Given the description of an element on the screen output the (x, y) to click on. 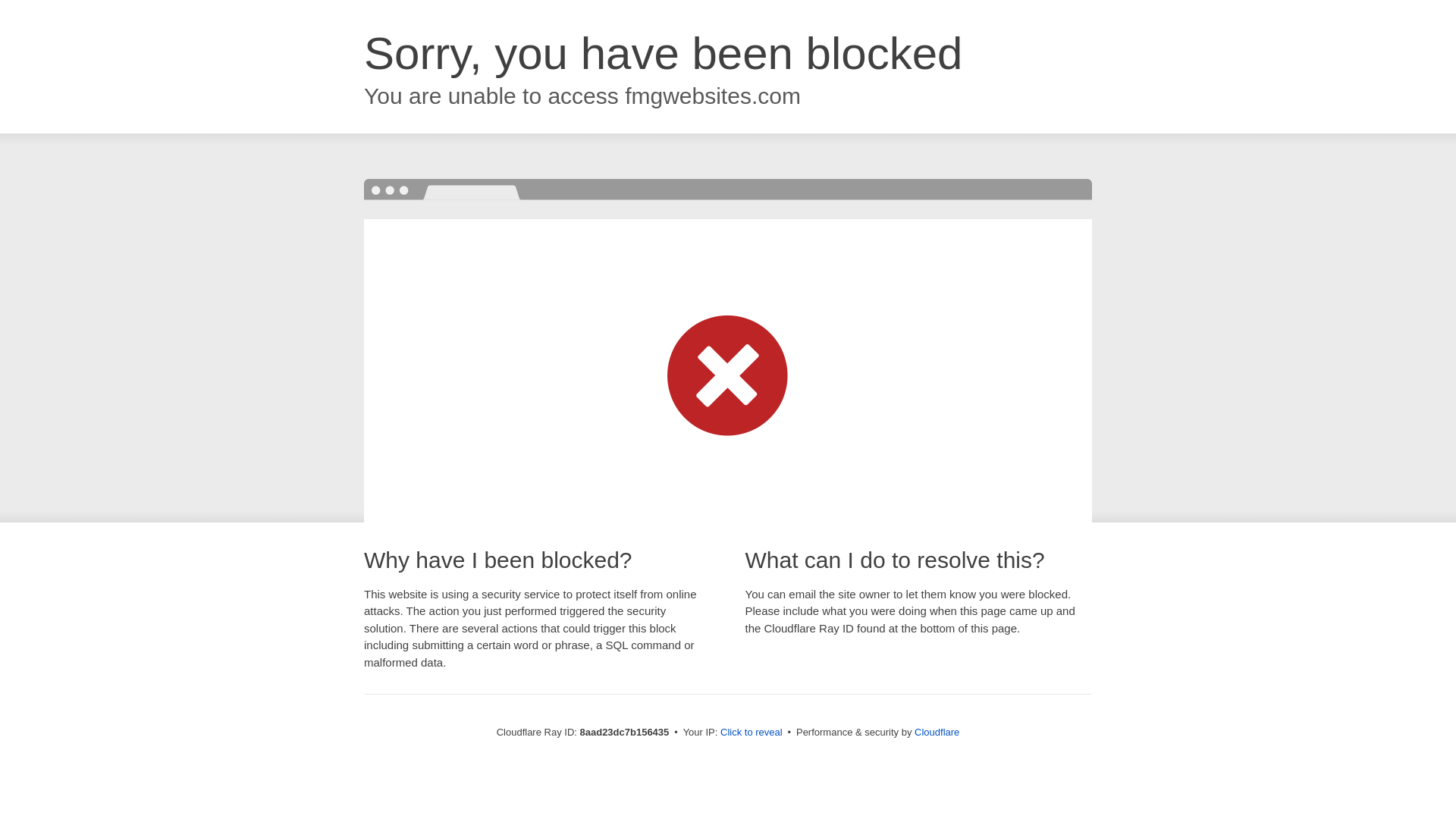
Cloudflare (936, 731)
Click to reveal (751, 732)
